Given the description of an element on the screen output the (x, y) to click on. 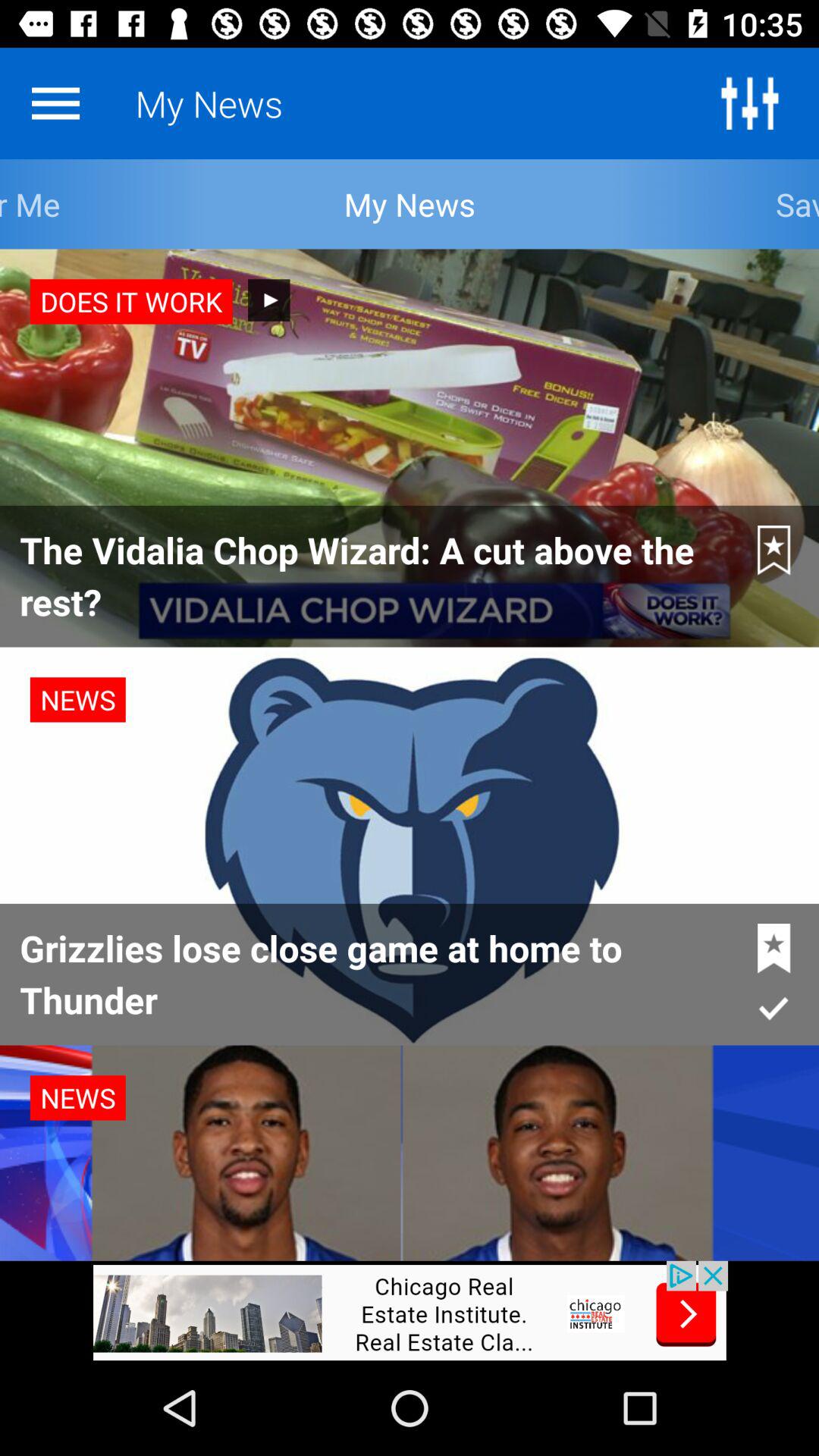
open advertisement (409, 1310)
